Given the description of an element on the screen output the (x, y) to click on. 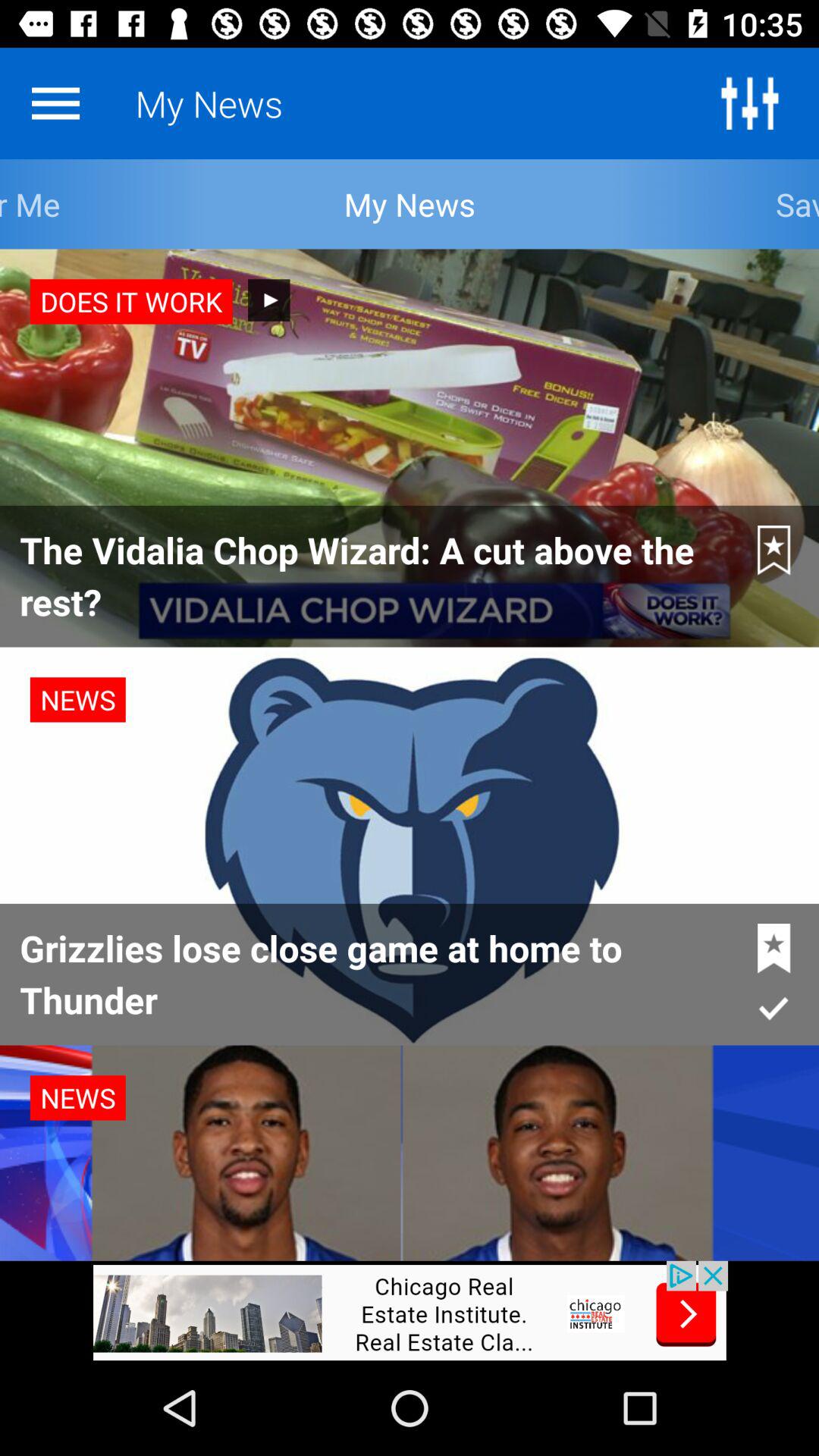
open advertisement (409, 1310)
